Given the description of an element on the screen output the (x, y) to click on. 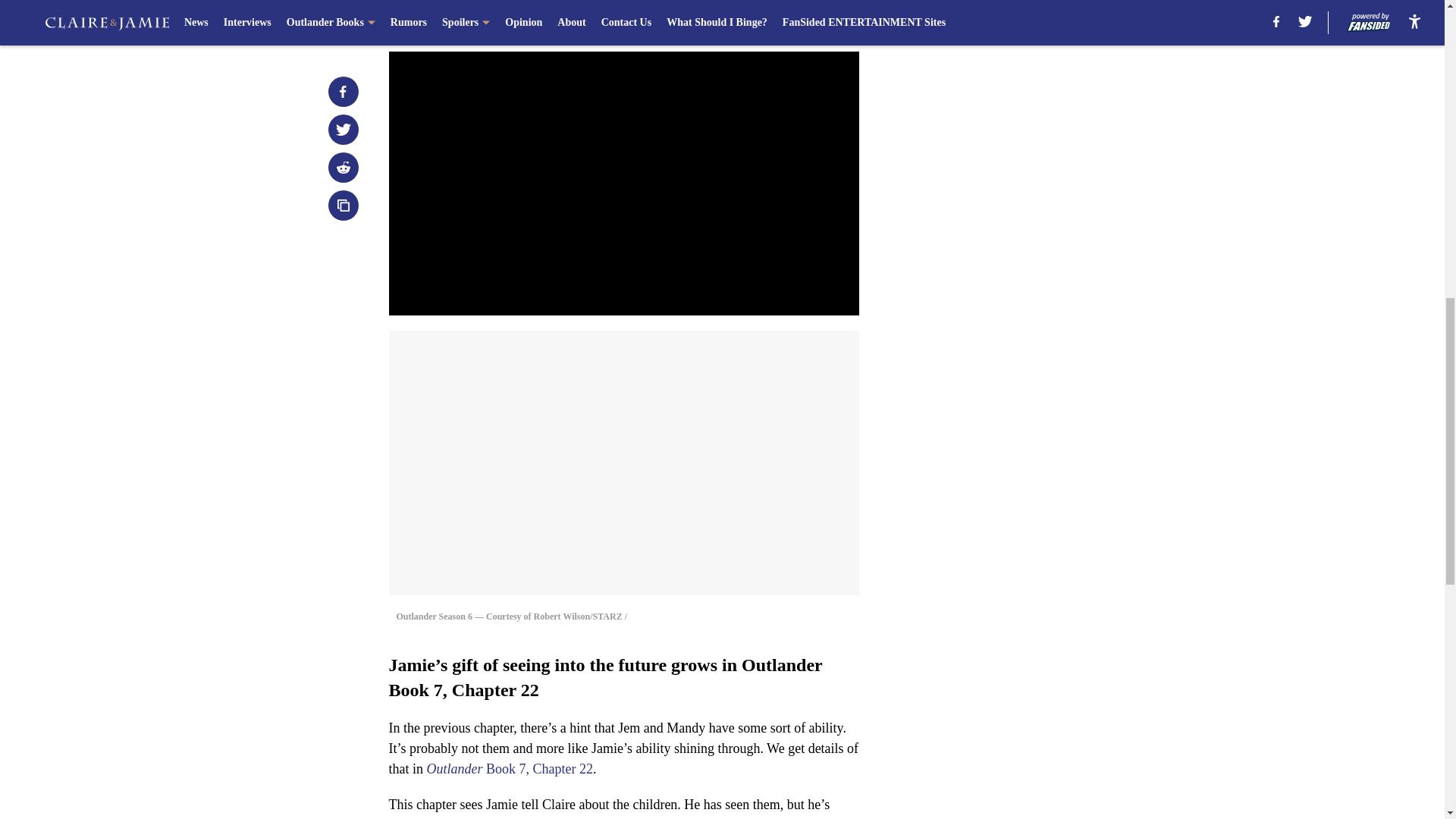
Next (813, 20)
Prev (433, 20)
Outlander Book 7, Chapter 22 (509, 768)
